Given the description of an element on the screen output the (x, y) to click on. 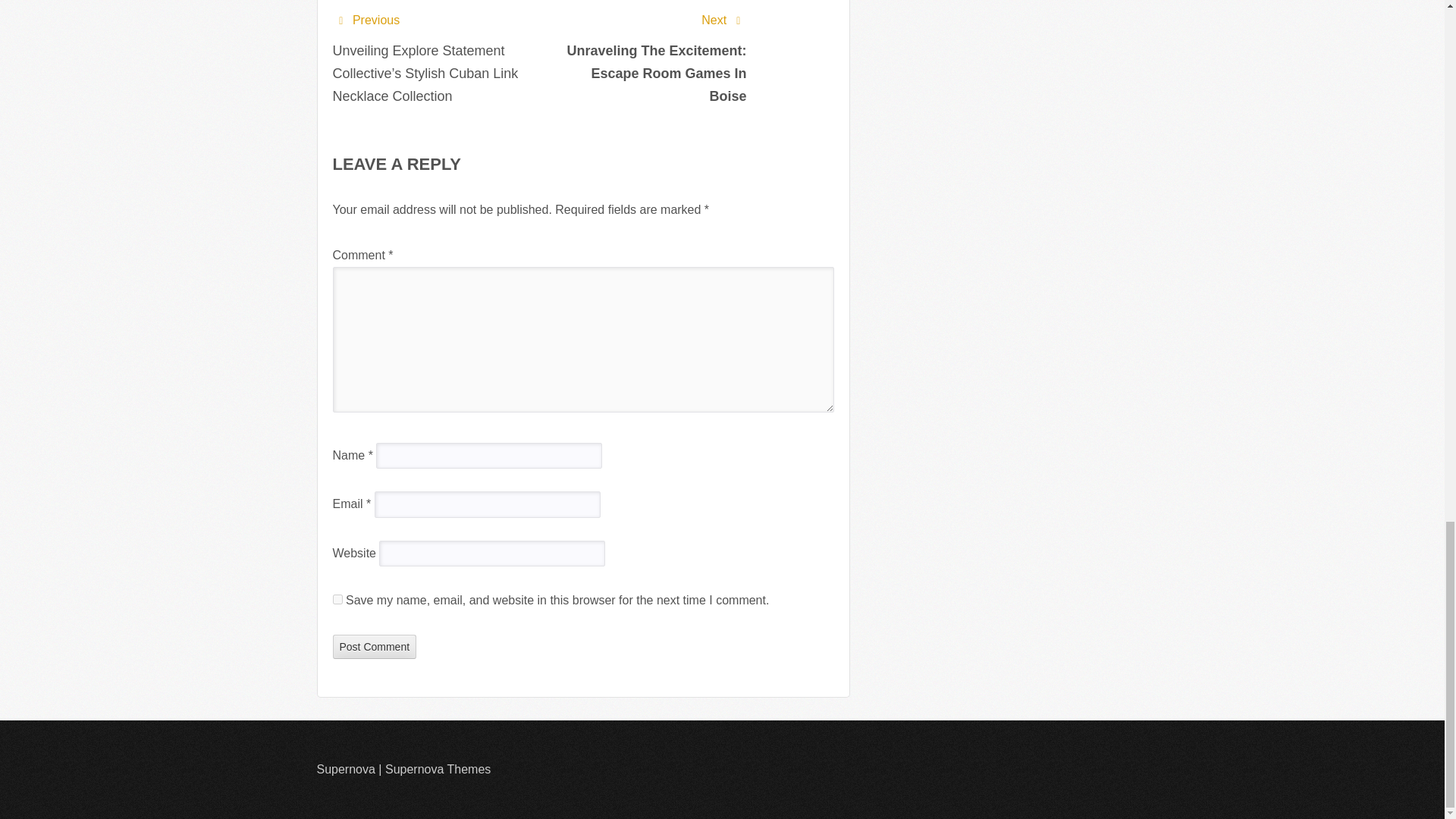
Post Comment (373, 646)
yes (336, 599)
